Given the description of an element on the screen output the (x, y) to click on. 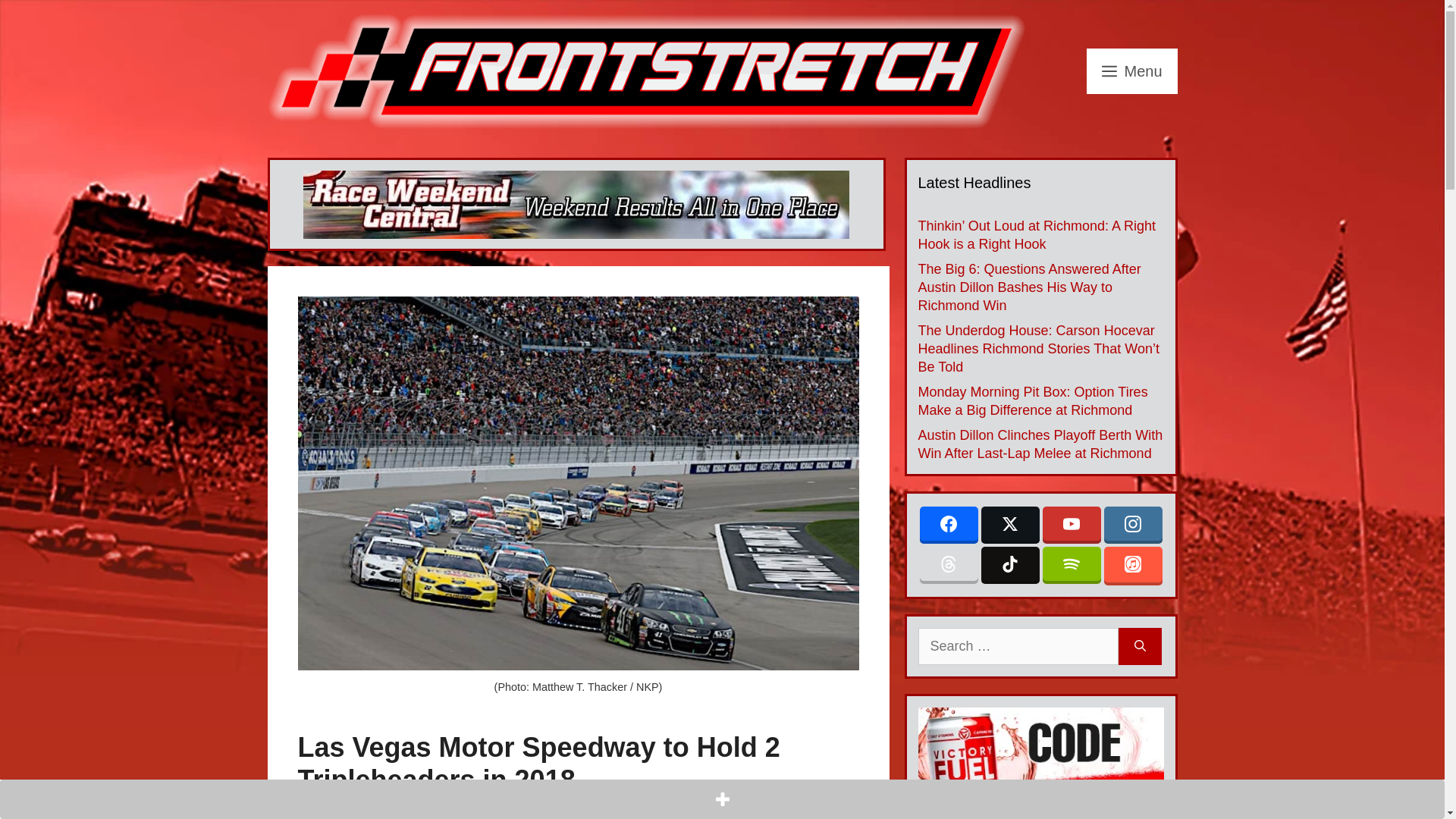
Phil Allaway (406, 809)
Menu (1131, 71)
